Given the description of an element on the screen output the (x, y) to click on. 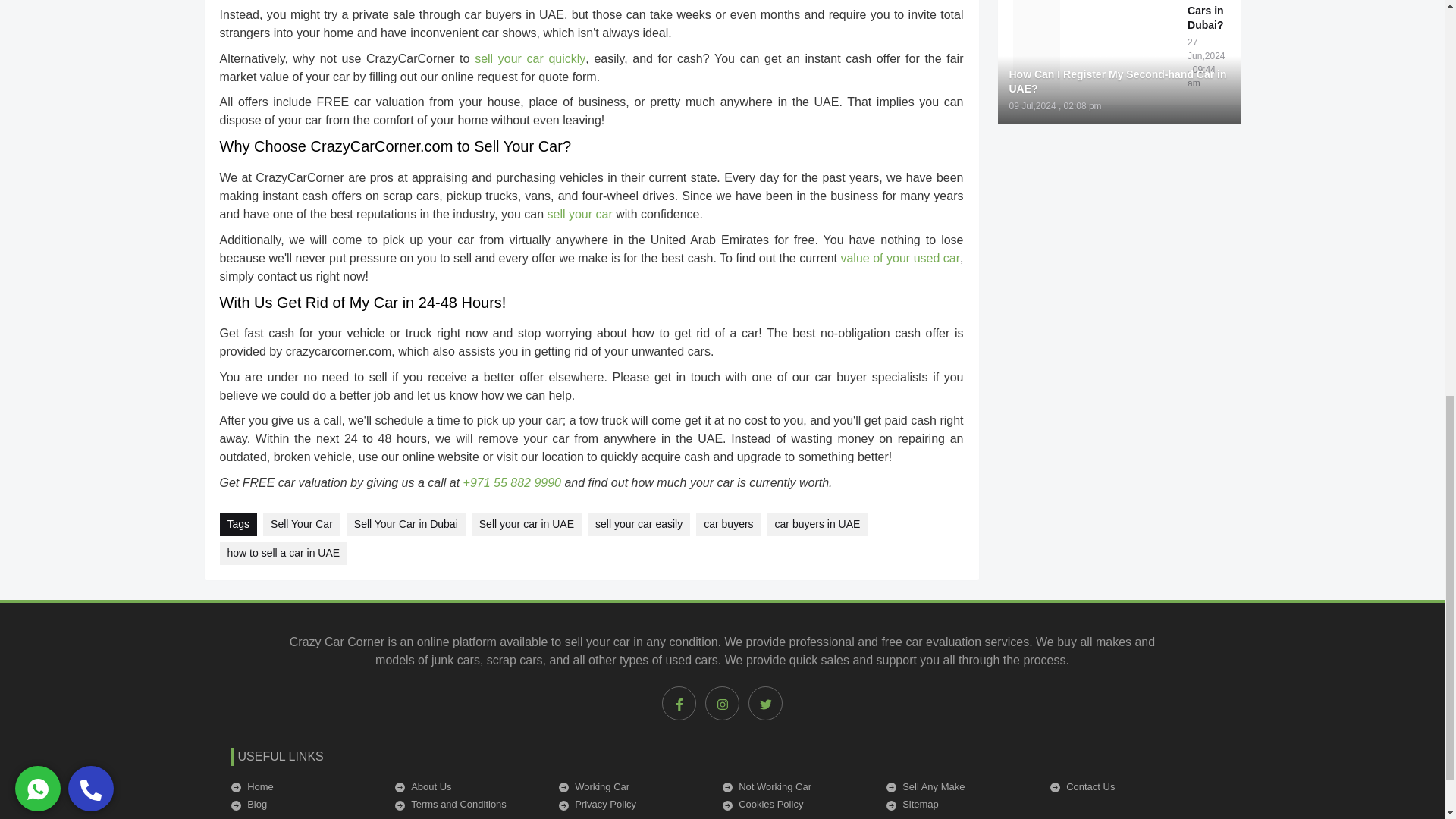
Working Car (630, 787)
Terms and Conditions (467, 804)
Privacy Policy (630, 804)
Can You Sell Cars in Dubai? (1206, 16)
How Can I Register My Second-hand Car in UAE? (1118, 81)
Home (302, 787)
Cookies Policy (794, 804)
Can You Sell Cars in Dubai? (1129, 15)
value of your used car (899, 257)
About Us (467, 787)
Sell Any Make (957, 787)
Blog (302, 804)
Not Working Car (794, 787)
sell your car quickly (529, 58)
used cars (691, 659)
